Given the description of an element on the screen output the (x, y) to click on. 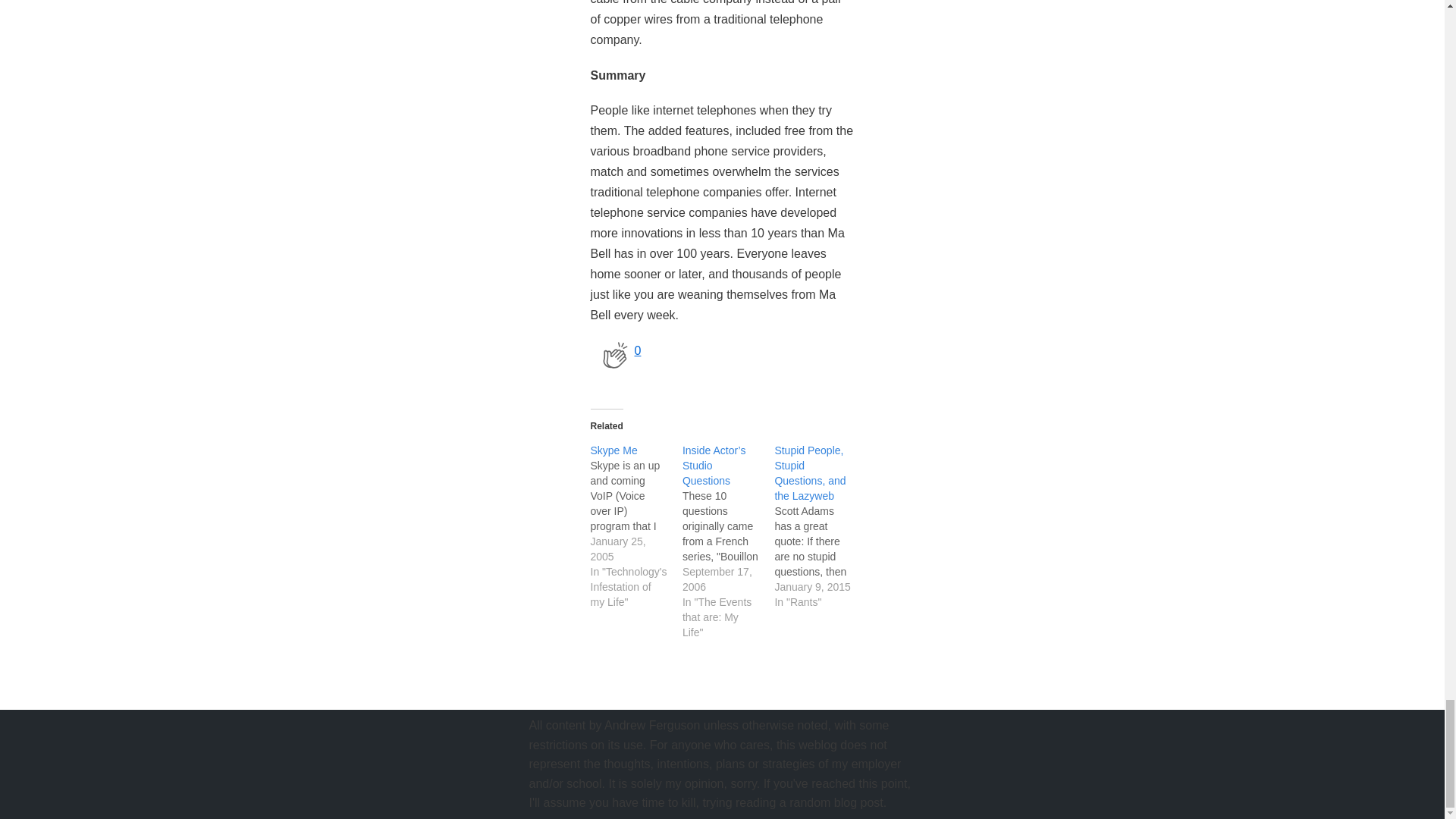
0 (614, 355)
Stupid People, Stupid Questions, and the Lazyweb (809, 473)
Stupid People, Stupid Questions, and the Lazyweb (809, 473)
Skype Me (613, 450)
Skype Me (613, 450)
